Given the description of an element on the screen output the (x, y) to click on. 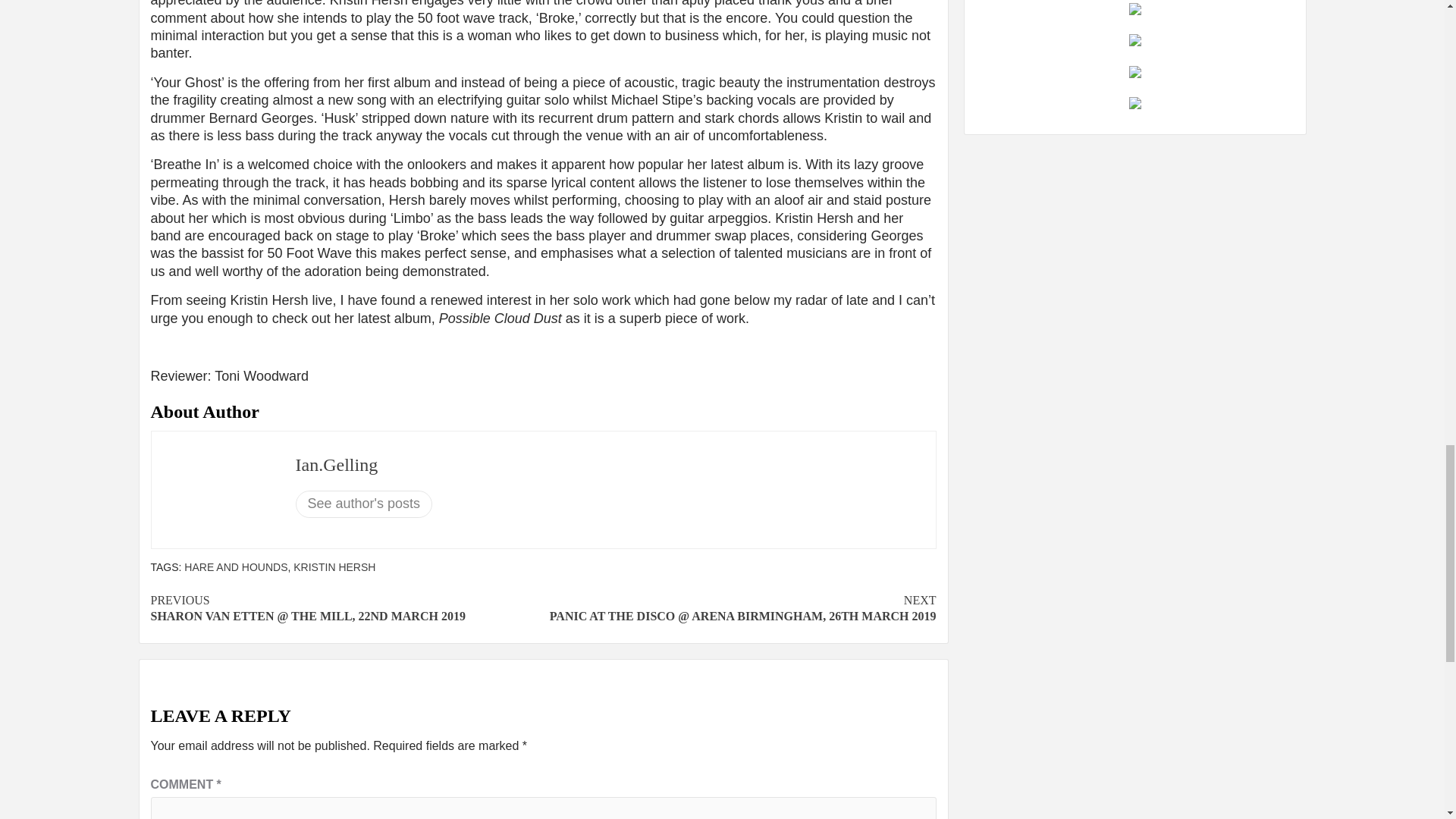
See author's posts (363, 503)
KRISTIN HERSH (334, 567)
HARE AND HOUNDS (235, 567)
Ian.Gelling (336, 465)
